Given the description of an element on the screen output the (x, y) to click on. 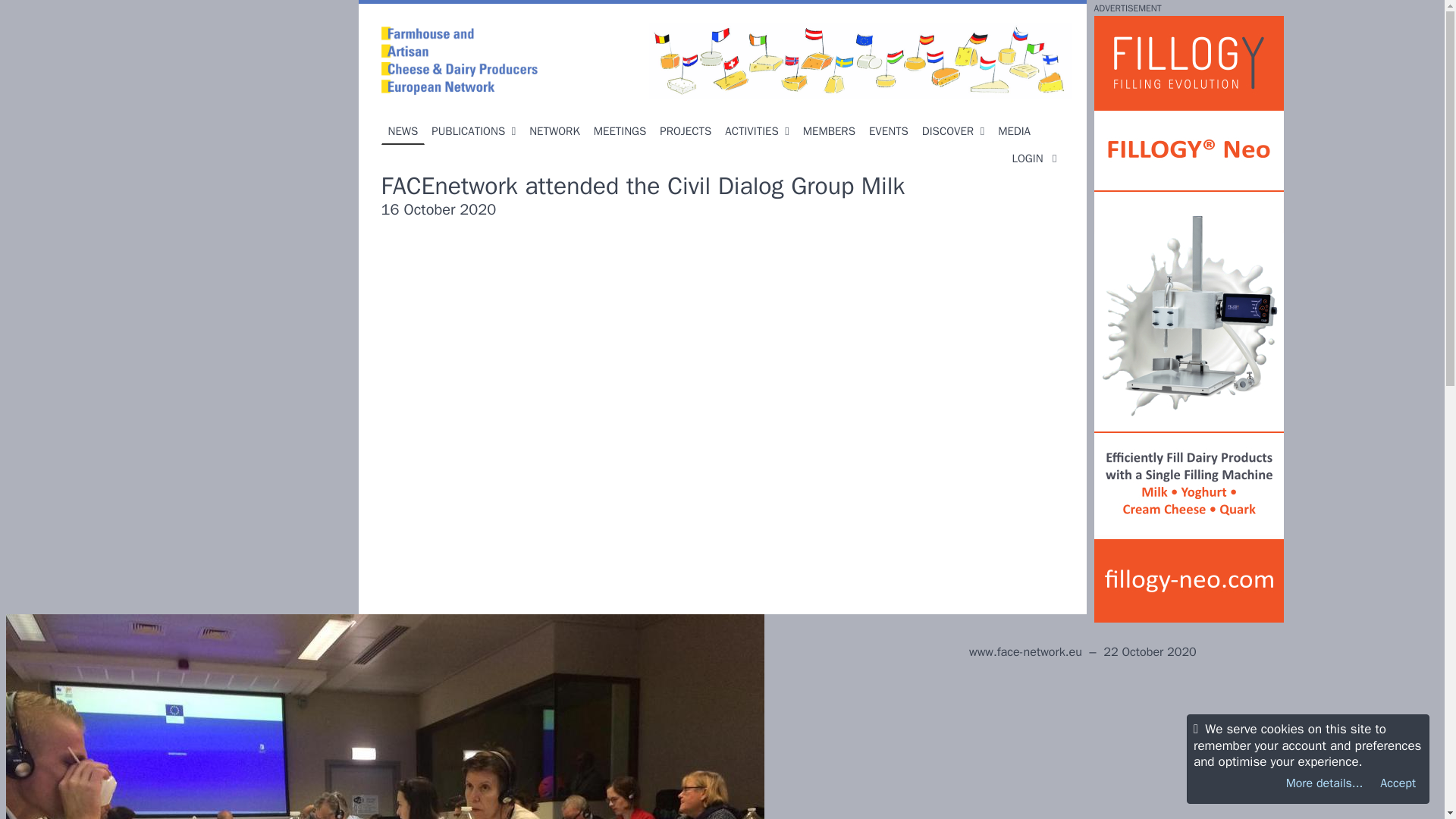
MEETINGS (619, 130)
NEWS (402, 130)
EVENTS (888, 130)
DISCOVER (953, 130)
MEMBERS (828, 130)
ACTIVITIES (755, 130)
PROJECTS (684, 130)
PUBLICATIONS (473, 130)
NETWORK (554, 130)
